Given the description of an element on the screen output the (x, y) to click on. 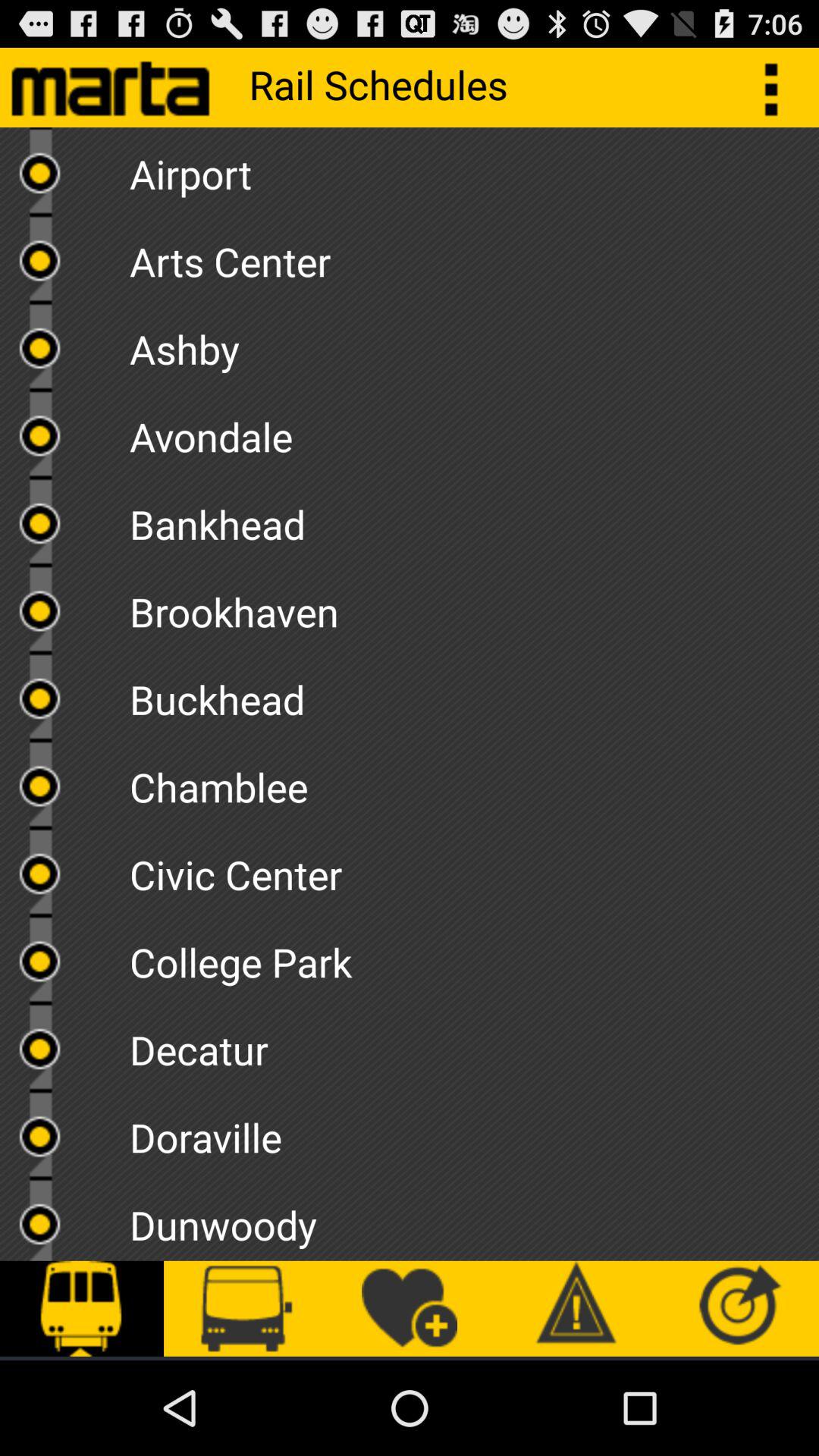
turn on the app above the avondale icon (474, 343)
